Given the description of an element on the screen output the (x, y) to click on. 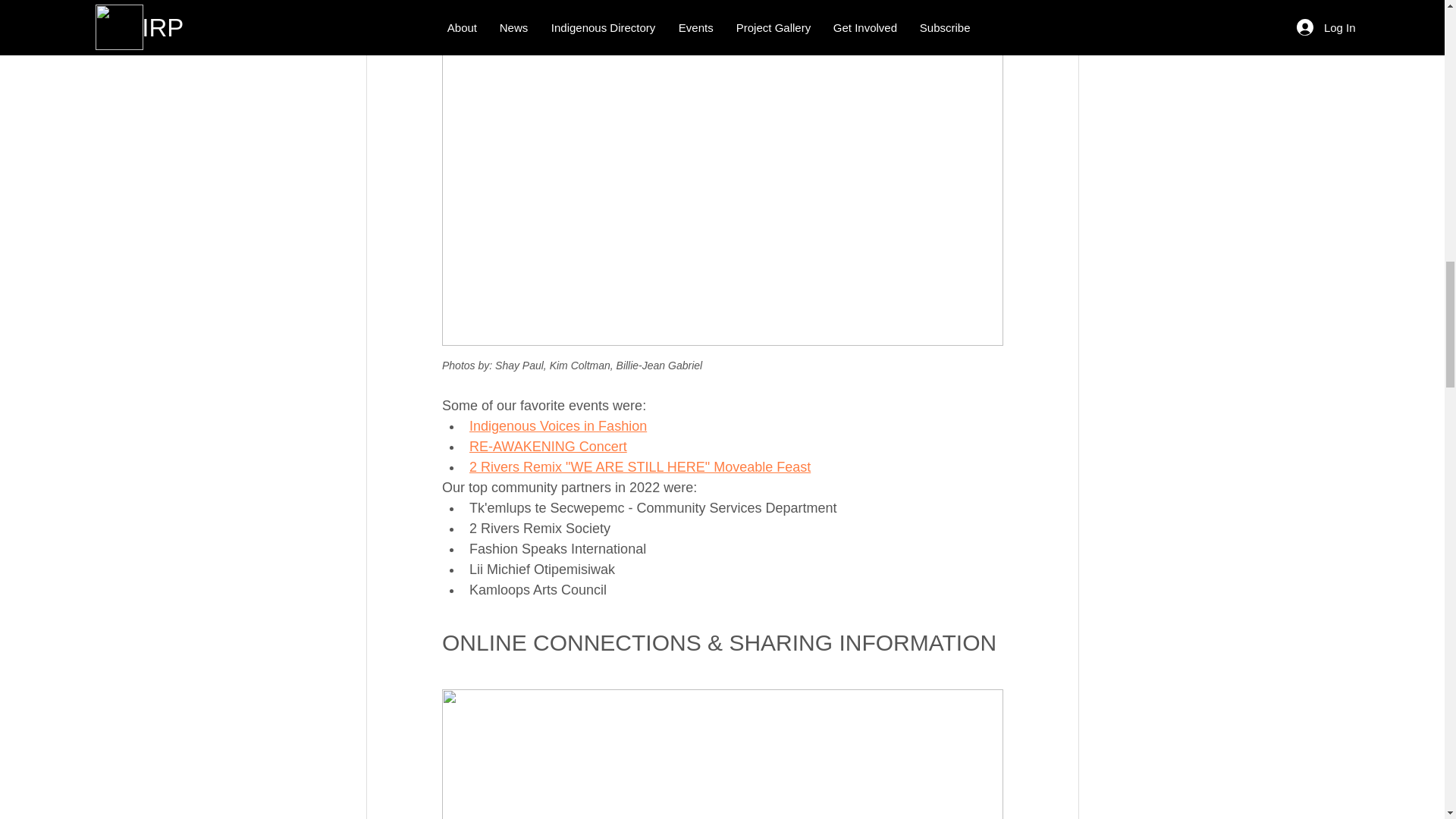
RE-AWAKENING Concert (547, 446)
Indigenous Voices in Fashion (557, 426)
2 Rivers Remix "WE ARE STILL HERE" Moveable Feast (638, 467)
